Given the description of an element on the screen output the (x, y) to click on. 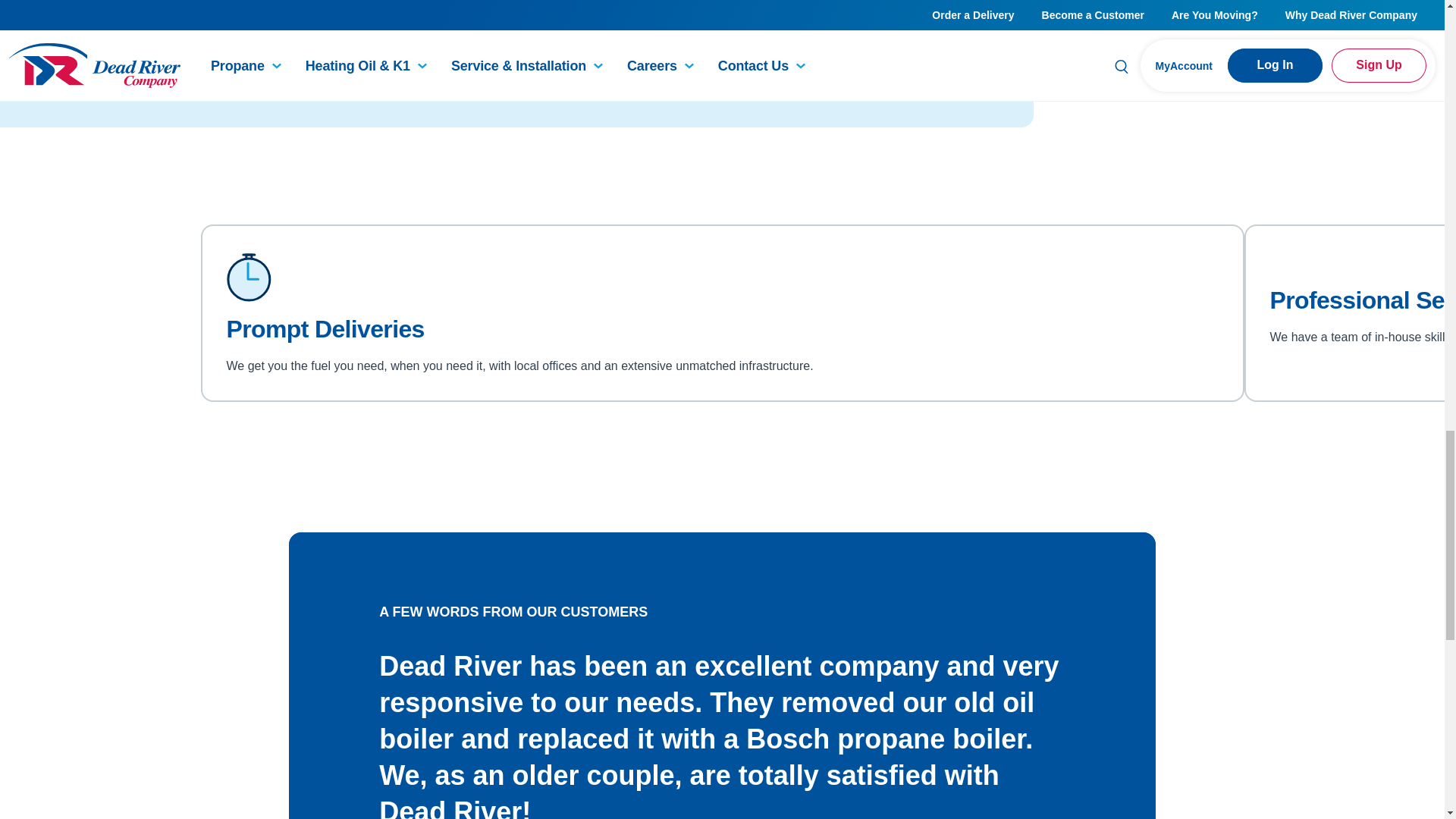
YouTube video player (986, 37)
